Given the description of an element on the screen output the (x, y) to click on. 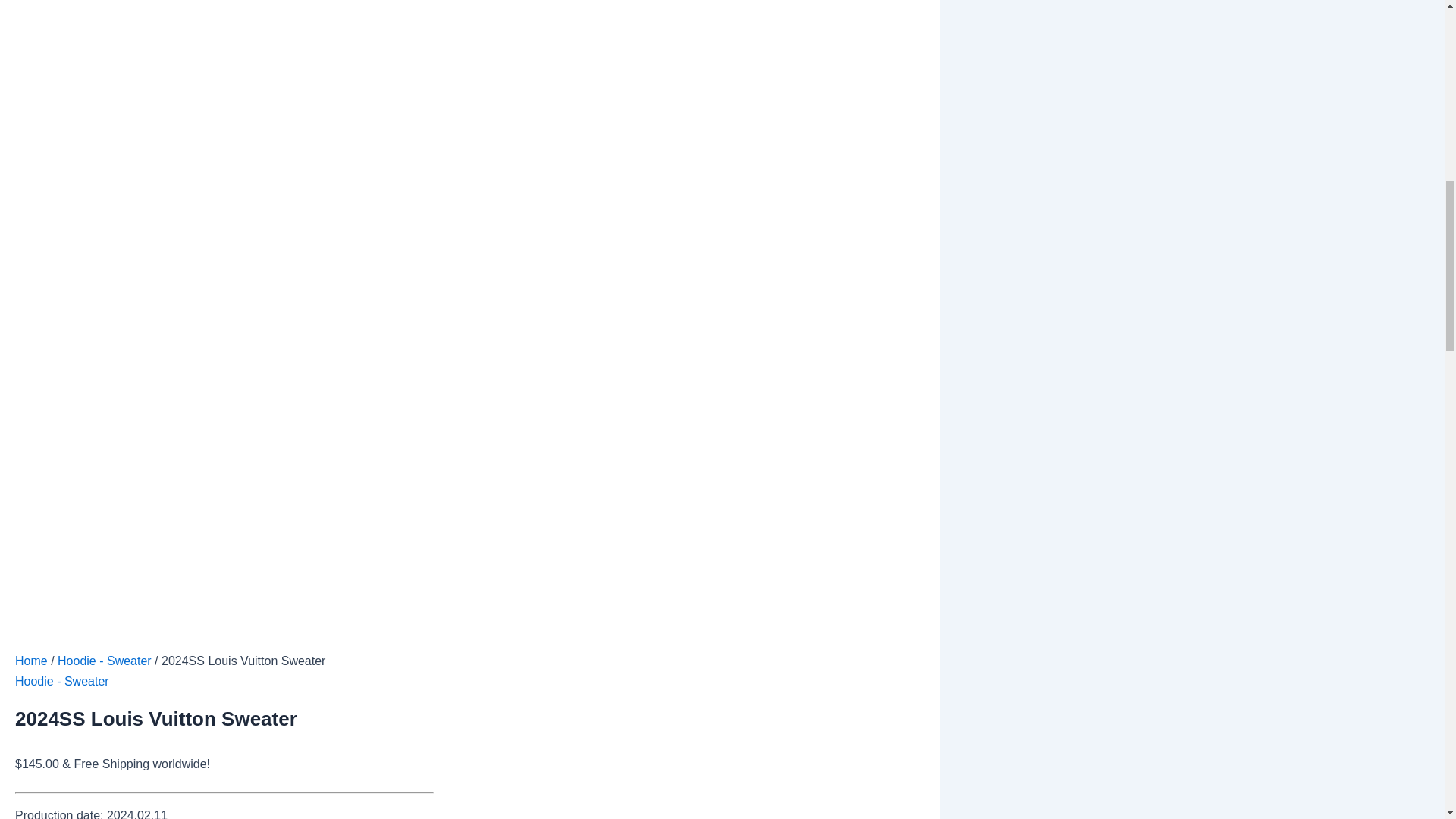
Hoodie - Sweater (104, 660)
Hoodie - Sweater (61, 680)
Home (31, 660)
